Given the description of an element on the screen output the (x, y) to click on. 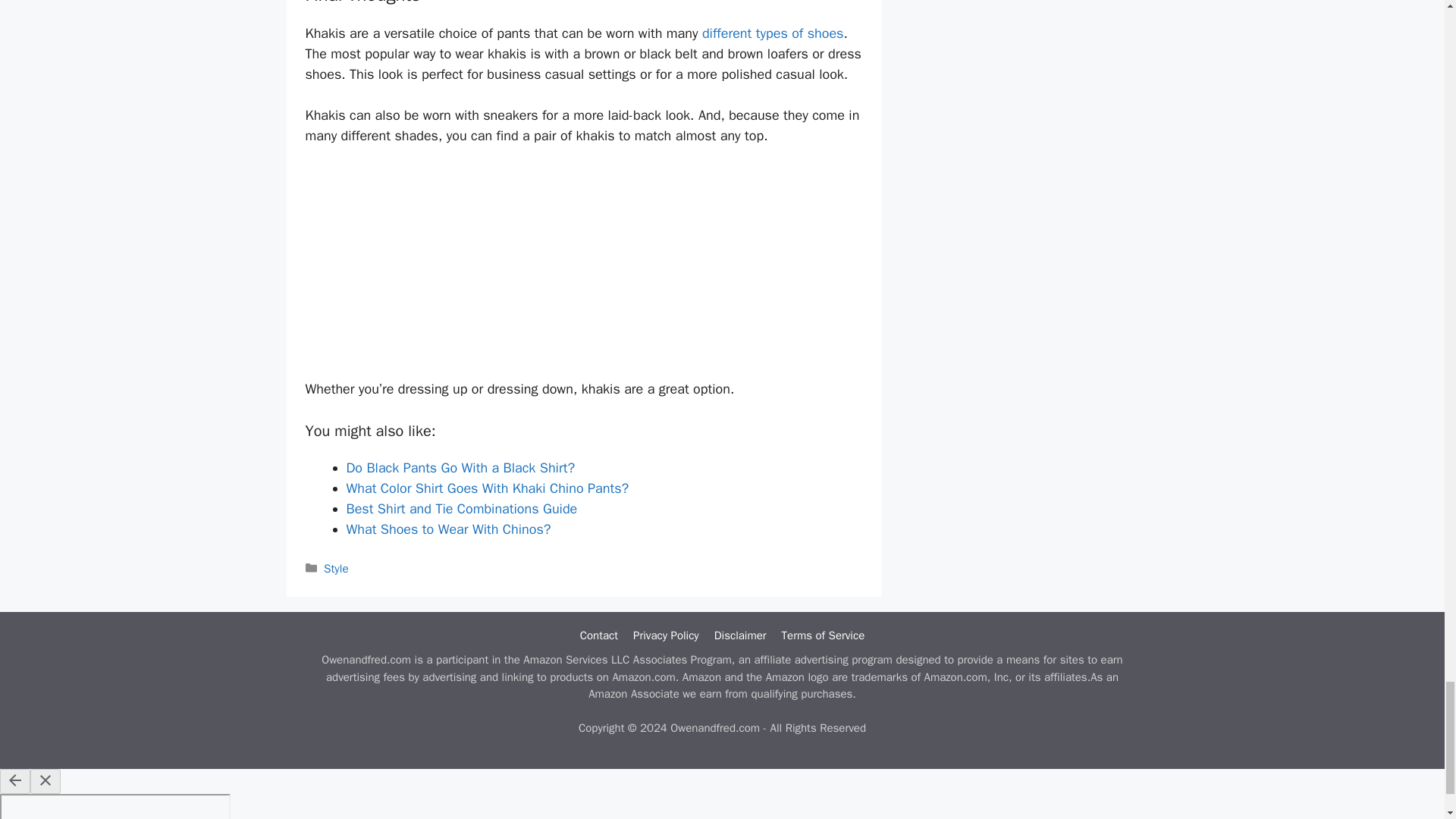
Do Black Pants Go With a Black Shirt? (460, 467)
Do Black Pants Go With a Black Shirt? (460, 467)
What Shoes to Wear With Chinos? (448, 528)
different types of shoes (772, 33)
Style (336, 568)
What Color Shirt Goes With Khaki Chino Pants? (487, 487)
What Color Shirt Goes With Khaki Chino Pants? (487, 487)
Best Shirt and Tie Combinations Guide (461, 508)
